Given the description of an element on the screen output the (x, y) to click on. 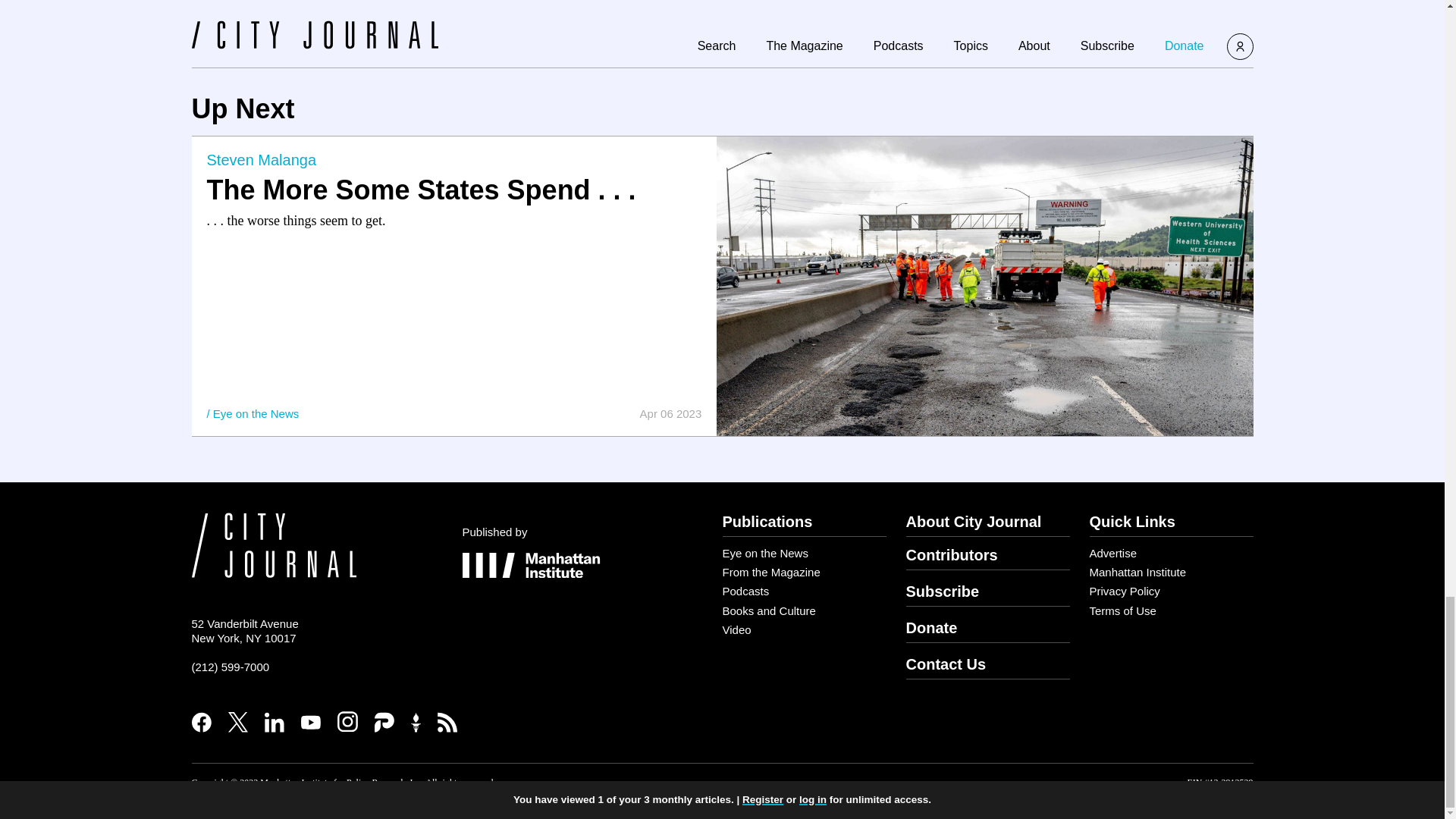
Winter 2023 (1203, 13)
Special Issue 2023: Can California Be Golden Again? (643, 13)
